Given the description of an element on the screen output the (x, y) to click on. 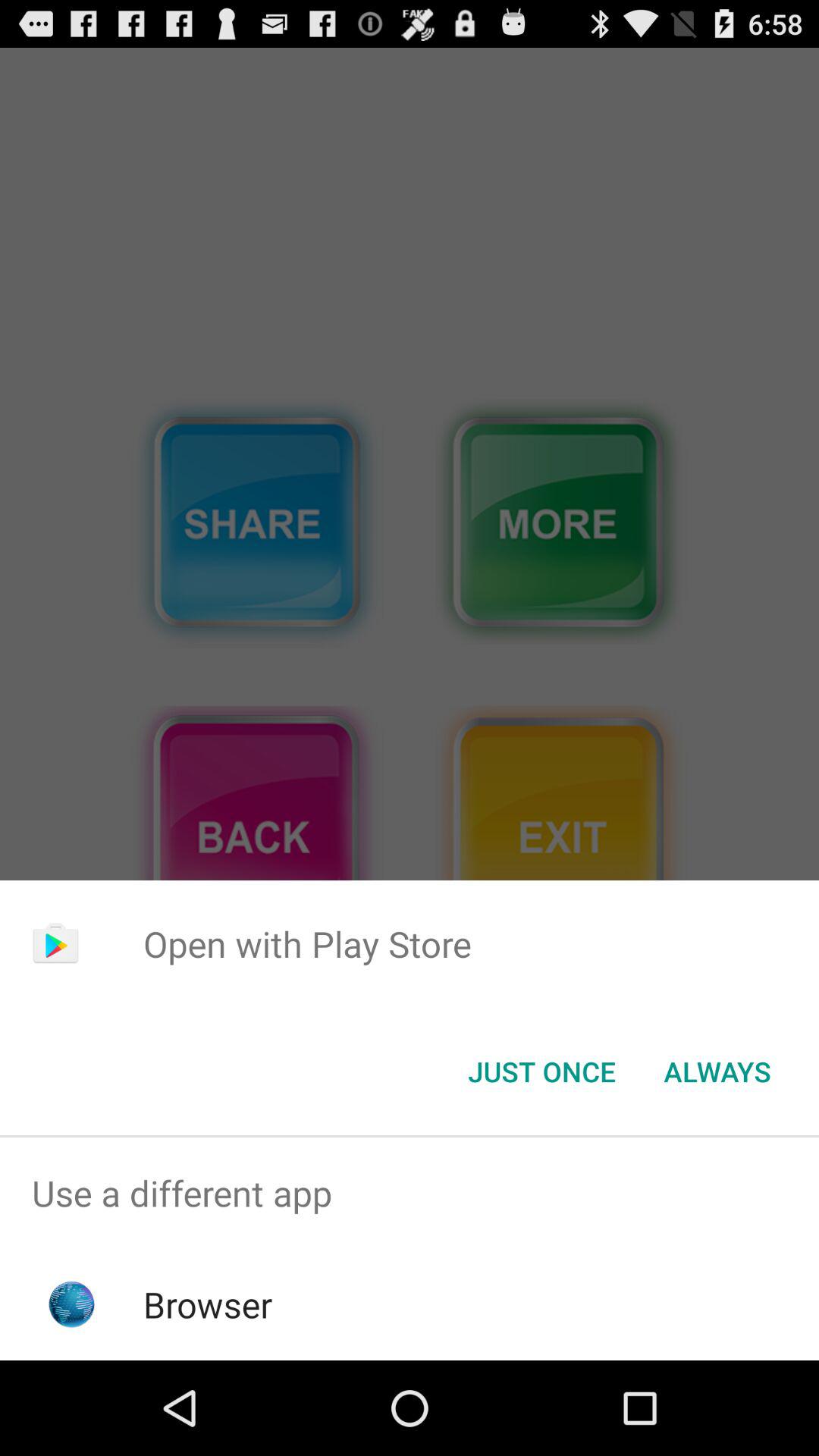
press icon to the left of the always (541, 1071)
